Given the description of an element on the screen output the (x, y) to click on. 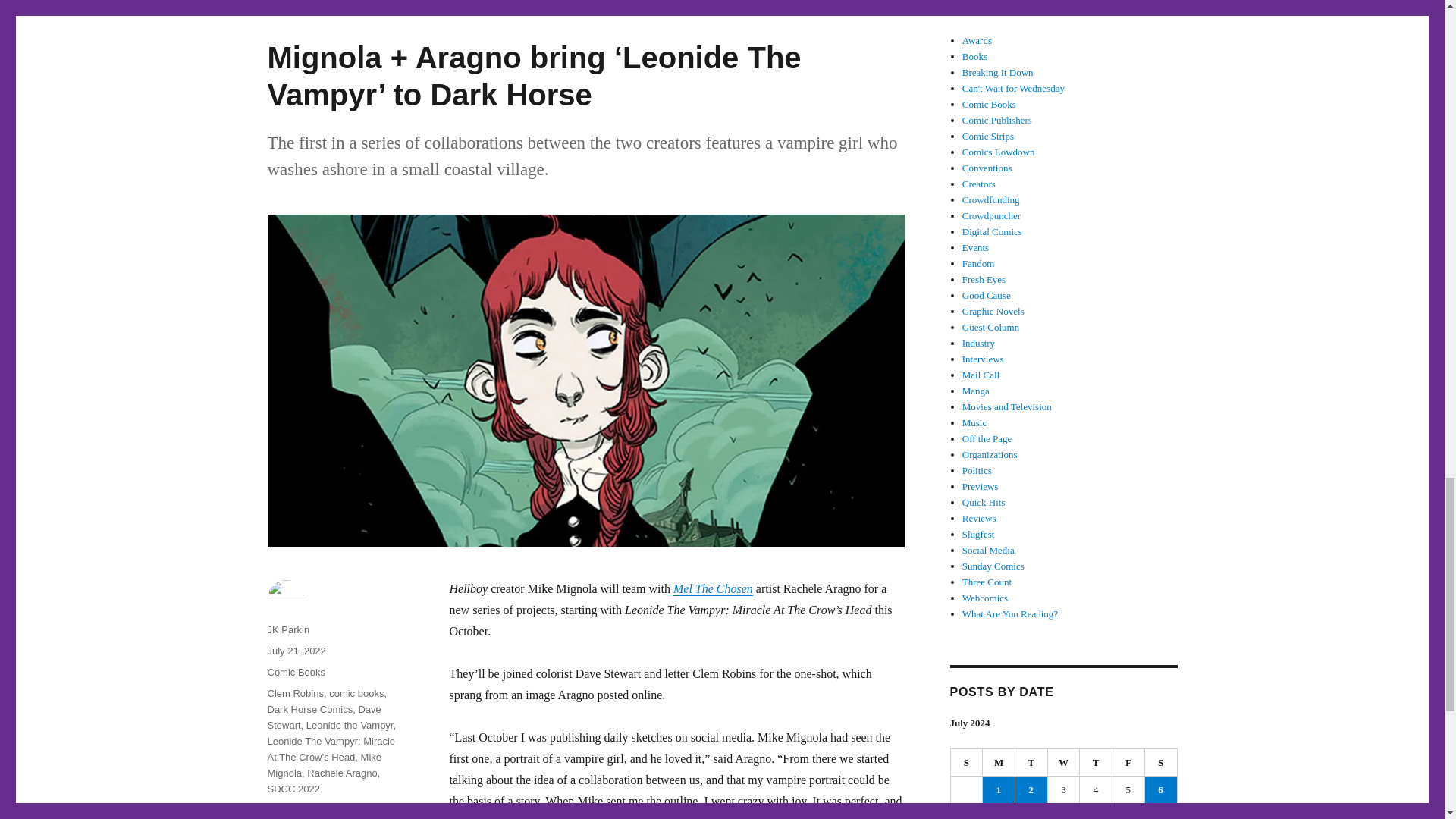
Sunday (967, 762)
Thursday (1096, 762)
Tuesday (1031, 762)
Monday (998, 762)
Friday (1128, 762)
Wednesday (1064, 762)
